Given the description of an element on the screen output the (x, y) to click on. 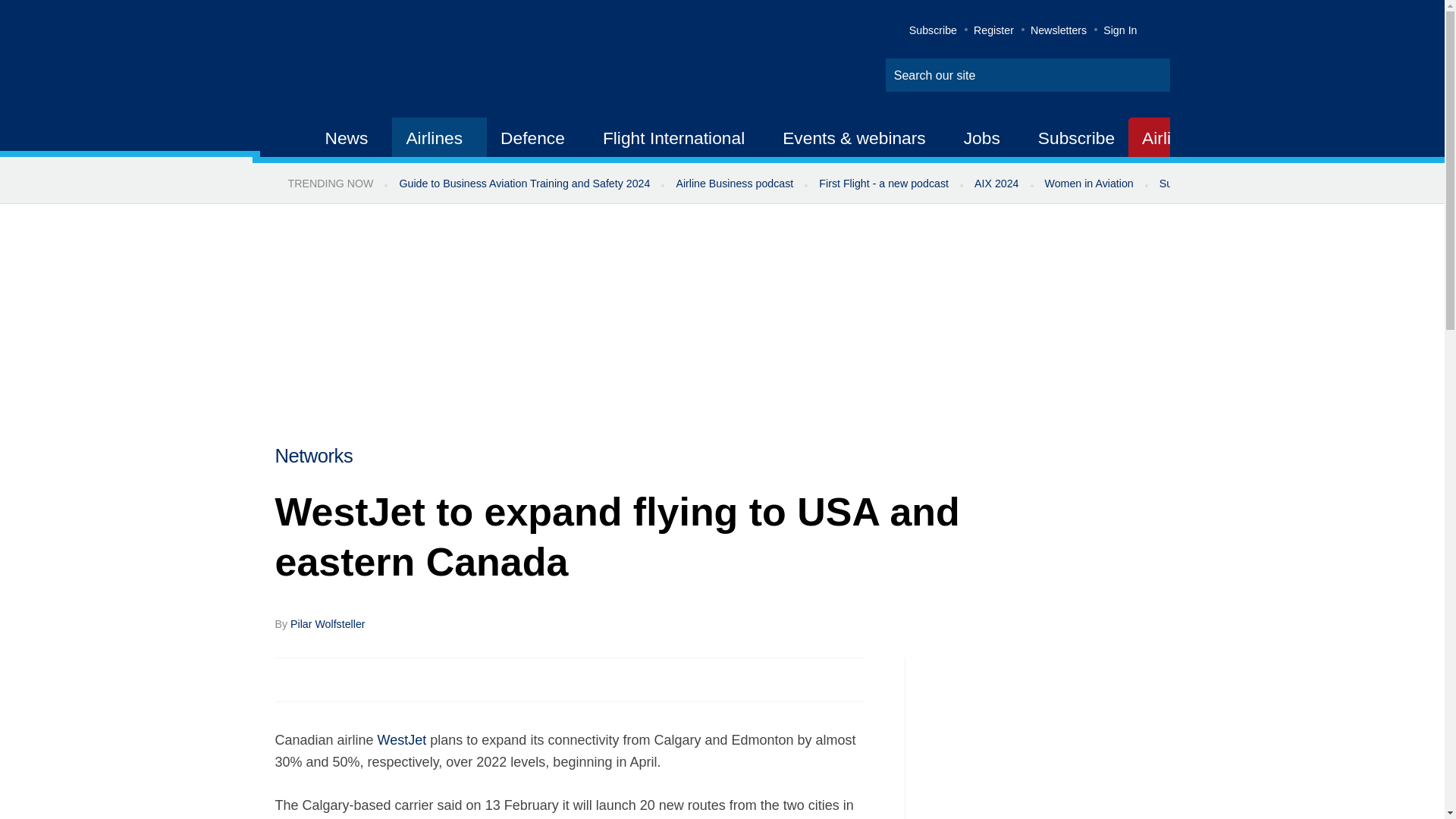
Share this on Linked in (352, 678)
Guide to Business Aviation Training and Safety 2024 (523, 183)
Women in Aviation (1089, 183)
First Flight - a new podcast (883, 183)
Sustainable Aviation newsletter (1234, 183)
Share this on Twitter (320, 678)
Email this article (386, 678)
Airline Business podcast (734, 183)
Site name (422, 60)
AIX 2024 (996, 183)
